Given the description of an element on the screen output the (x, y) to click on. 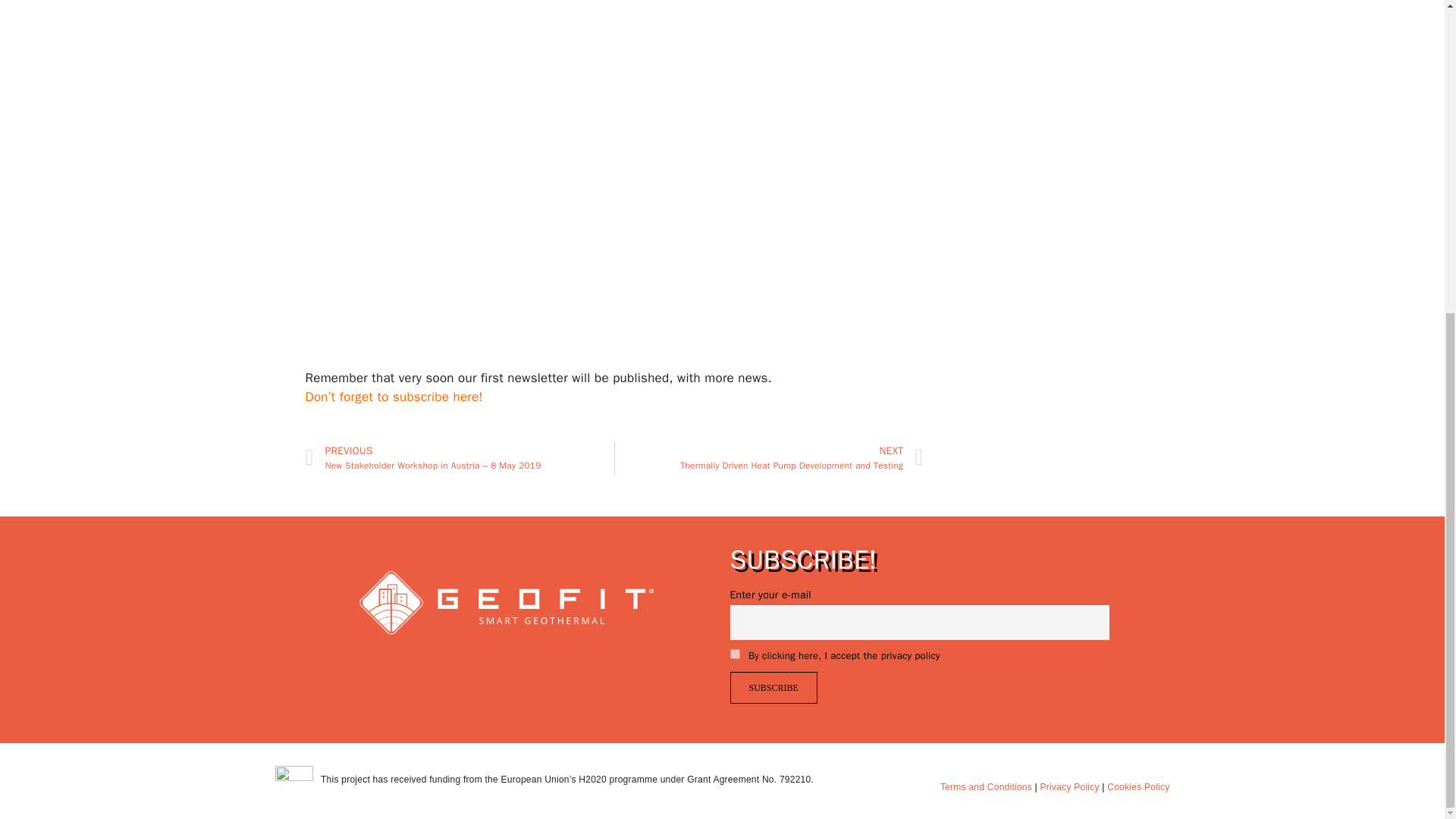
on (734, 654)
Subscribe (772, 687)
